Given the description of an element on the screen output the (x, y) to click on. 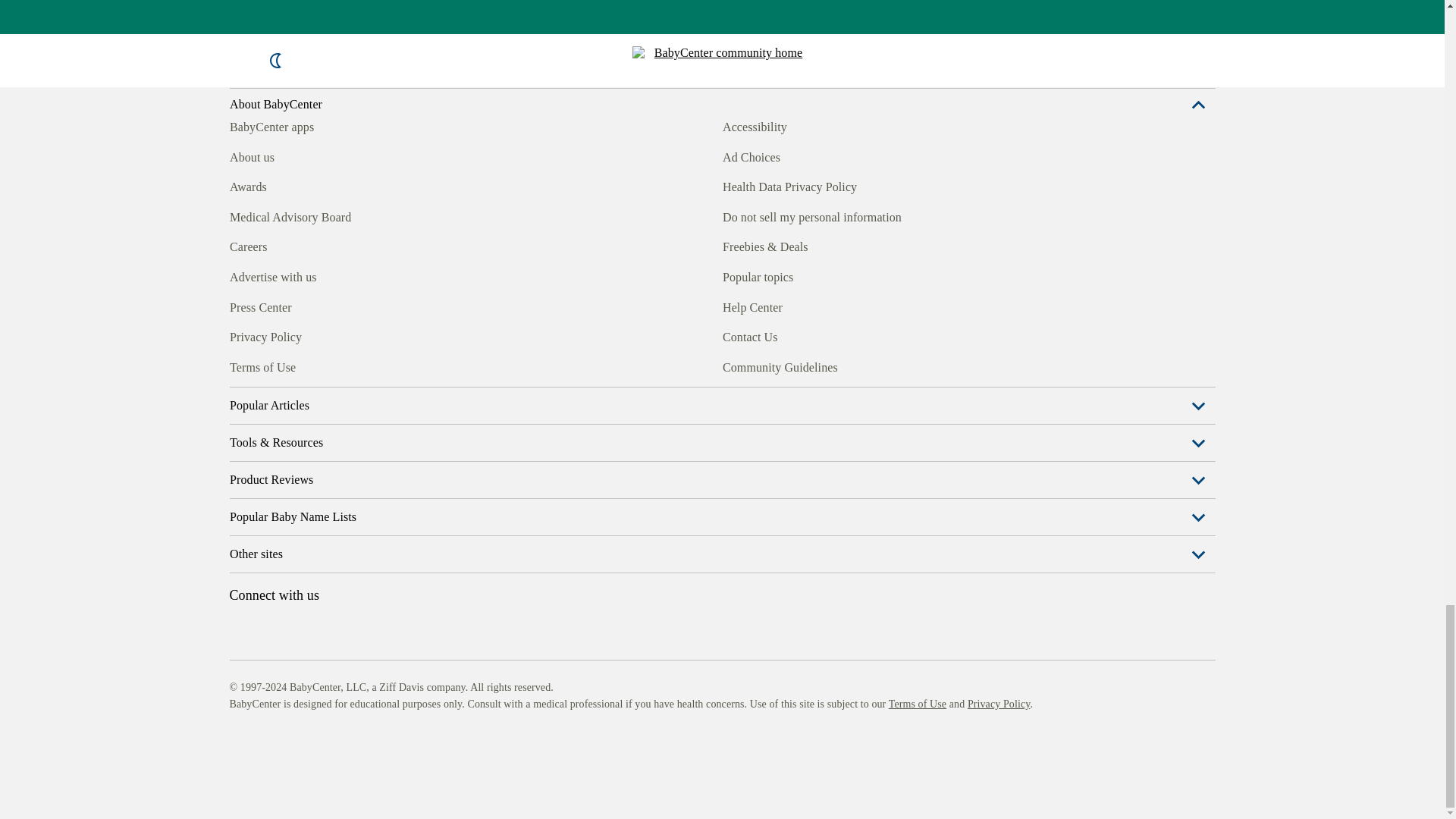
BabyCenter Facebook page (239, 364)
BabyCenter Instagram feed (274, 364)
BabyCenter Twitter feed (379, 364)
BabyCenter Pinterest board (309, 364)
BabyCenter YouTube channel (344, 364)
